Given the description of an element on the screen output the (x, y) to click on. 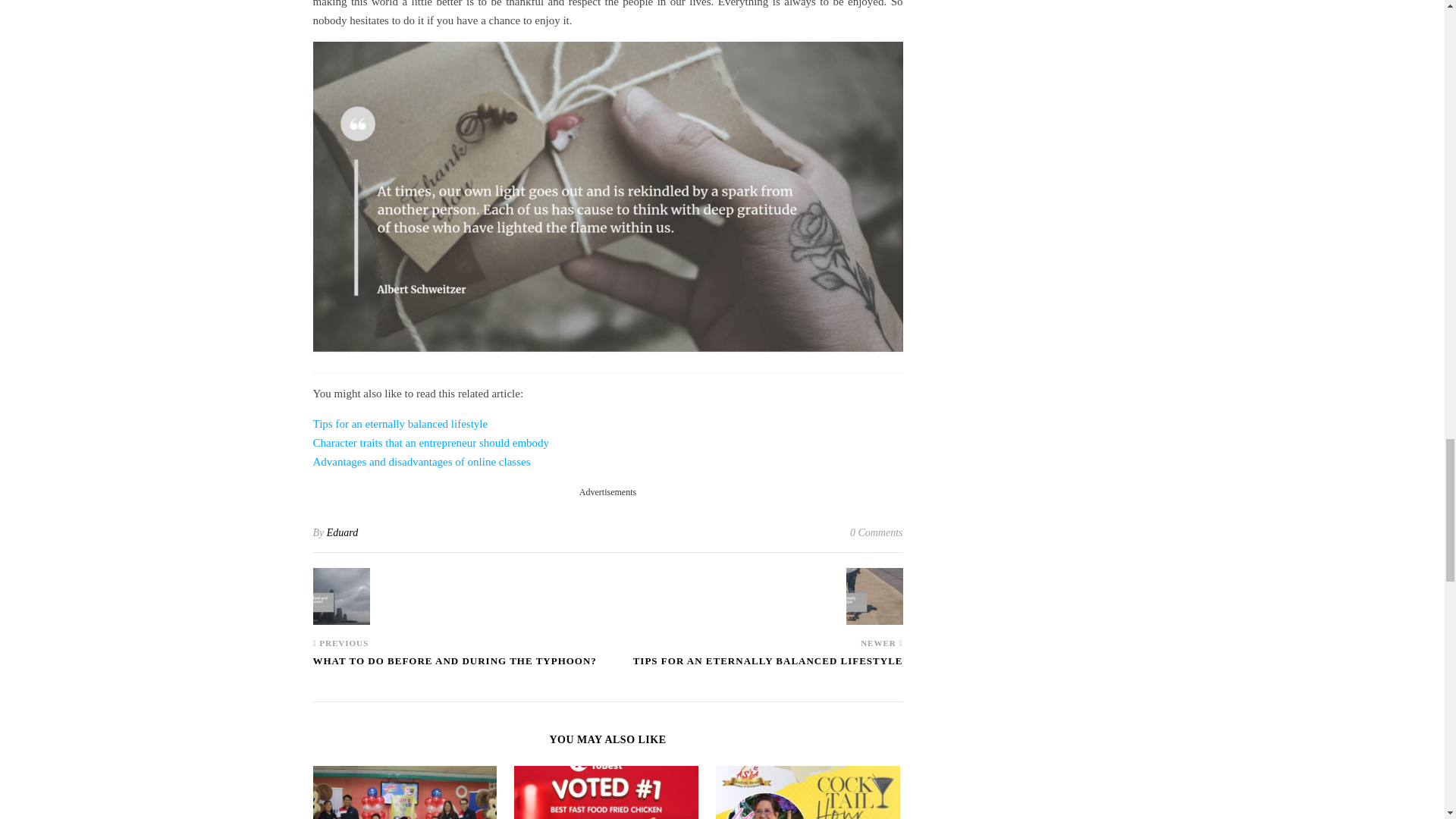
Posts by Eduard (342, 532)
What to do before and during the typhoon? (341, 596)
Tips for an eternally balanced lifestyle (767, 667)
Tips for an eternally balanced lifestyle (873, 596)
What to do before and during the typhoon? (454, 667)
Tips for an eternally balanced lifestyle (400, 423)
